Given the description of an element on the screen output the (x, y) to click on. 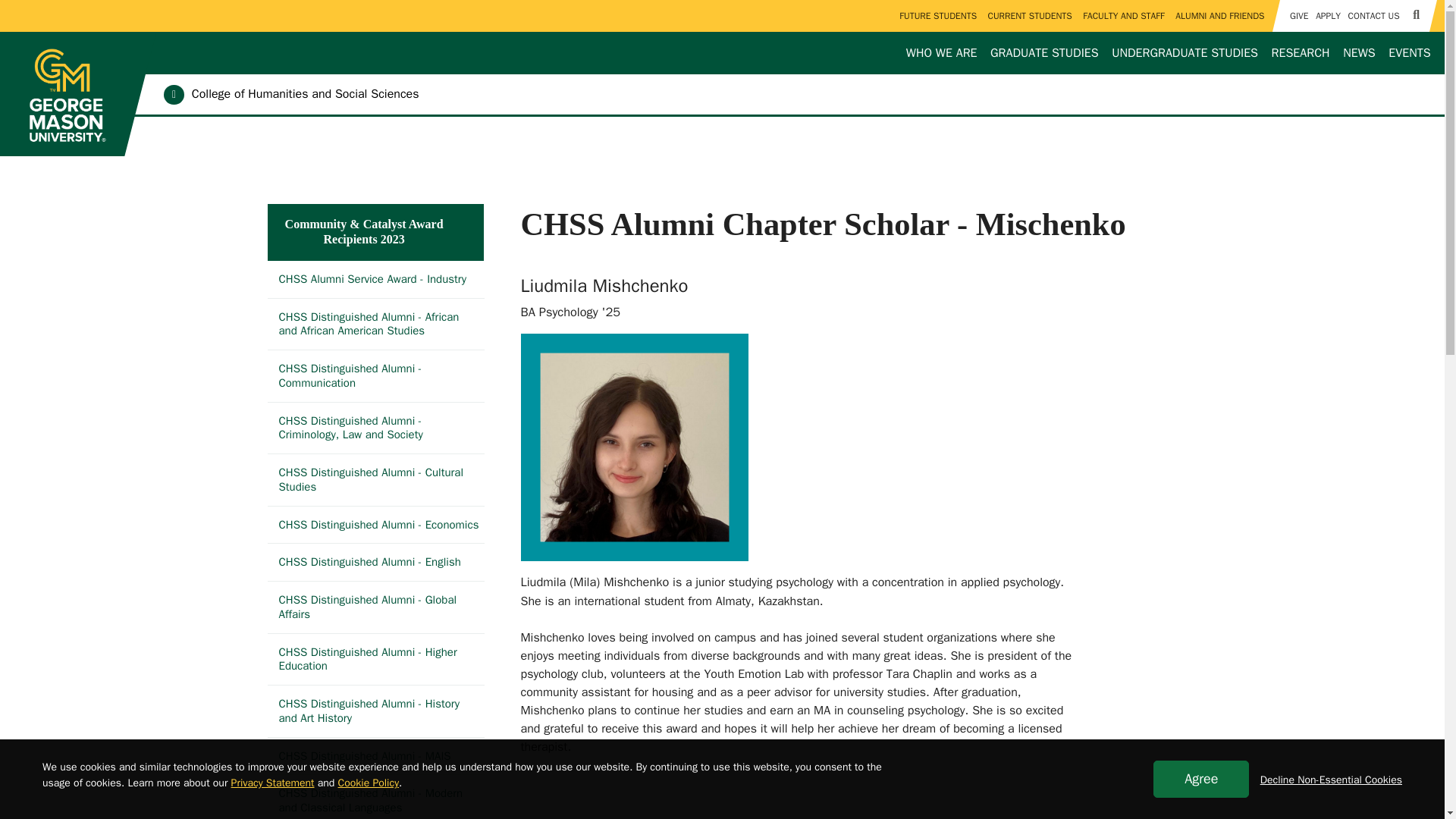
CURRENT STUDENTS (1029, 15)
Graduate Studies (1044, 52)
News (1359, 52)
Events (1409, 52)
Current Students (1029, 15)
WHO WE ARE (941, 52)
FACULTY AND STAFF (1122, 15)
Faculty and Staff (1122, 15)
FUTURE STUDENTS (937, 15)
Undergraduate Studies (1184, 52)
George Mason University Privacy Statement (272, 782)
Research (1300, 52)
Enter search terms (722, 14)
Cookie Policy (367, 782)
Alumni and Friends (1220, 15)
